Given the description of an element on the screen output the (x, y) to click on. 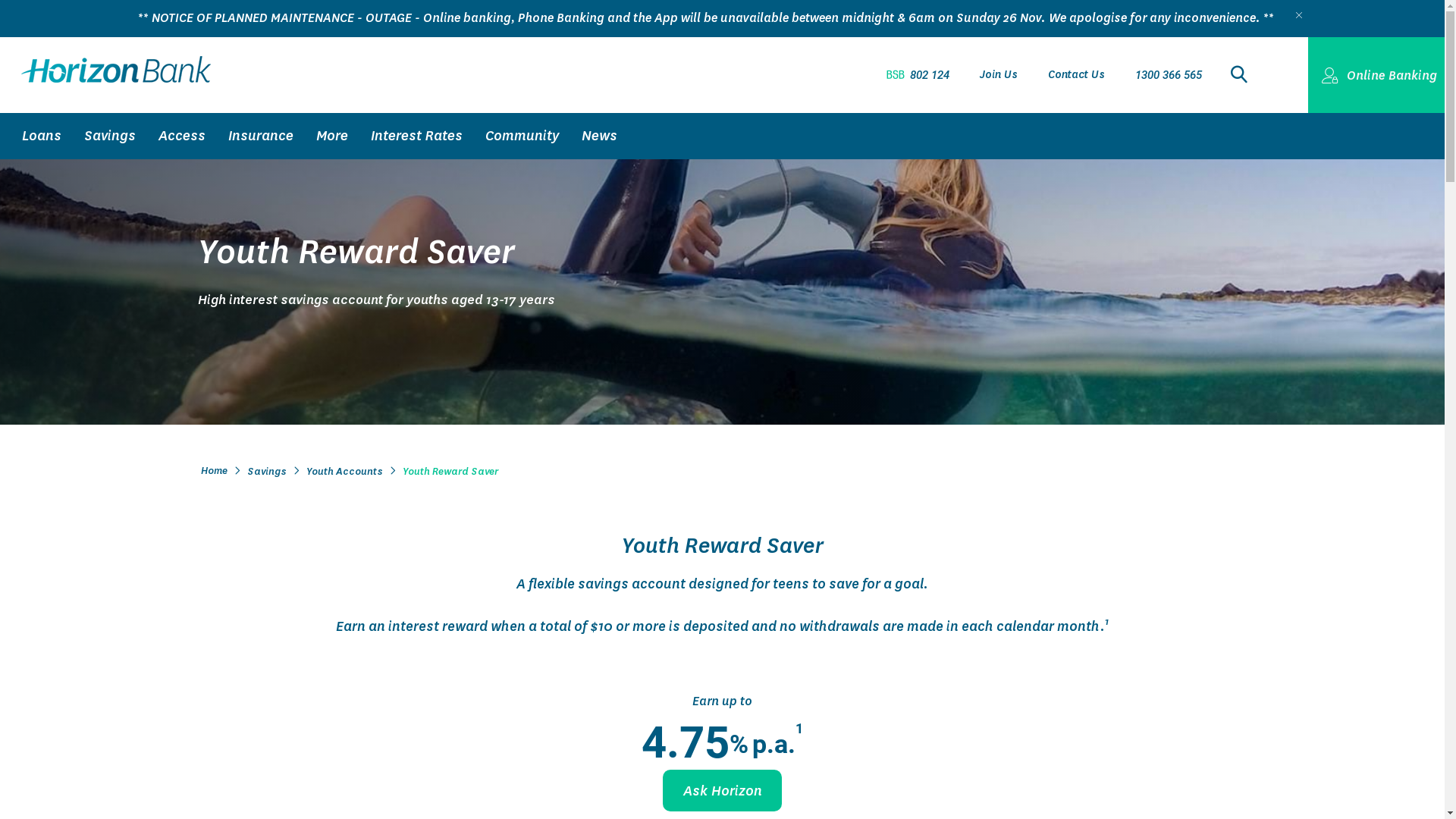
Contact Us Element type: text (1076, 74)
News Element type: text (599, 135)
Online Banking Element type: text (1376, 74)
Interest Rates Element type: text (416, 135)
Community Element type: text (521, 135)
Home Element type: text (213, 471)
Loans Element type: text (41, 135)
Join Us Element type: text (998, 74)
Insurance Element type: text (260, 135)
Savings Element type: text (109, 135)
Access Element type: text (181, 135)
More Element type: text (331, 135)
Ask Horizon Element type: text (721, 790)
